Given the description of an element on the screen output the (x, y) to click on. 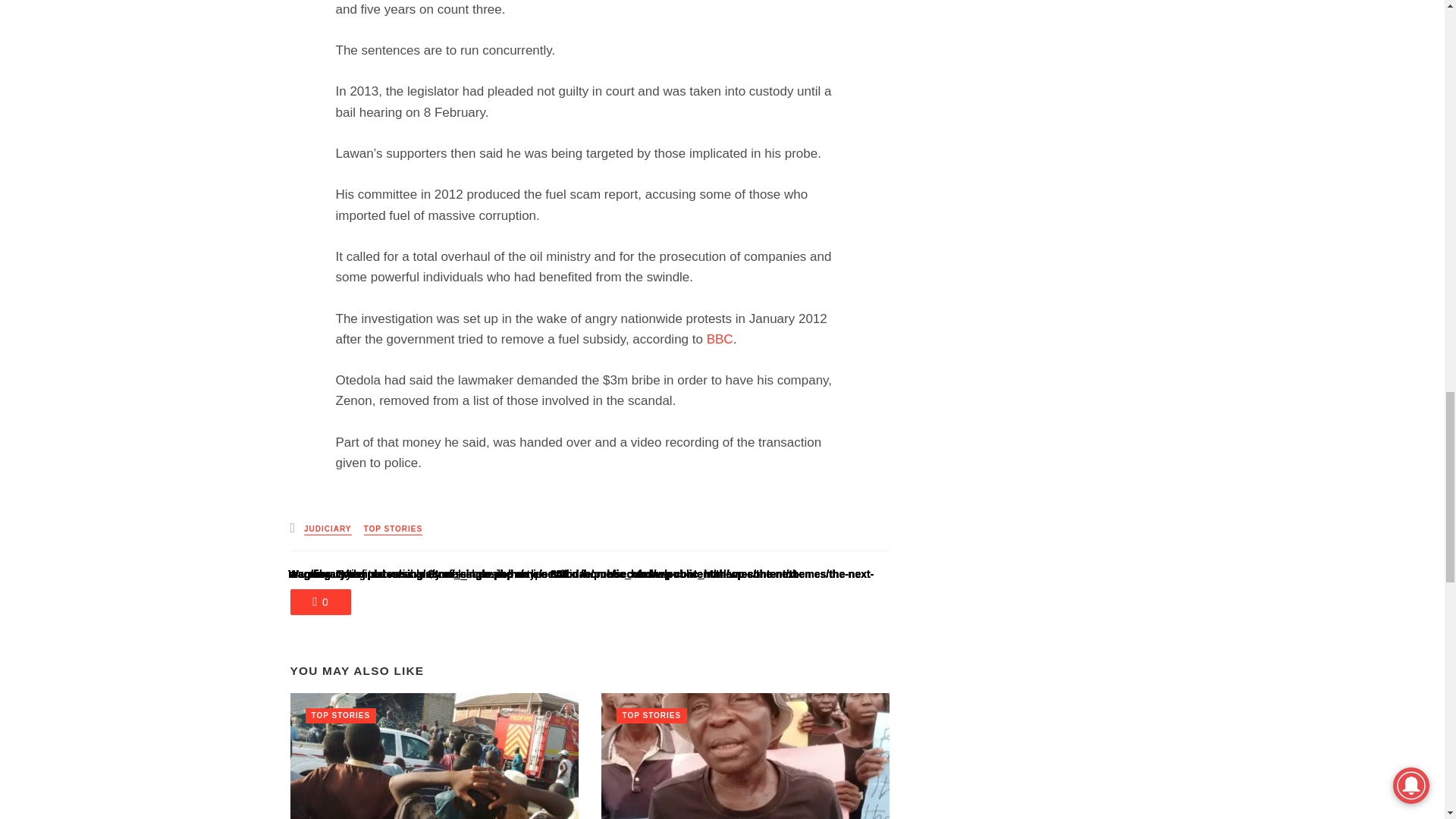
0 Comments (319, 601)
BBC (719, 339)
JUDICIARY (328, 529)
TOP STORIES (339, 715)
0 (319, 601)
TOP STORIES (393, 529)
